Given the description of an element on the screen output the (x, y) to click on. 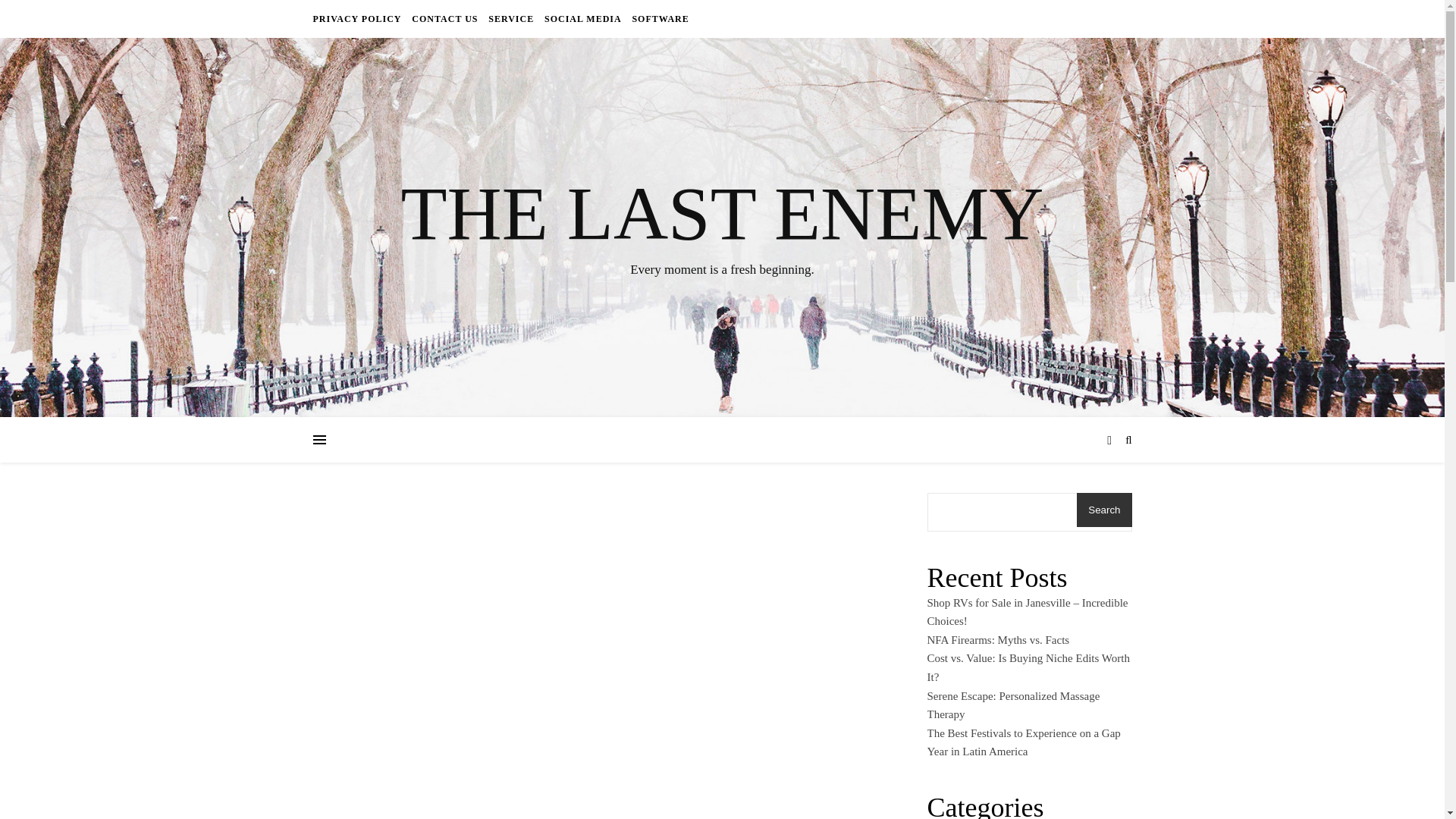
Cost vs. Value: Is Buying Niche Edits Worth It? (1027, 667)
CONTACT US (444, 18)
PRIVACY POLICY (358, 18)
SERVICE (510, 18)
SOCIAL MEDIA (583, 18)
Serene Escape: Personalized Massage Therapy (1012, 705)
NFA Firearms: Myths vs. Facts (997, 639)
Search (1104, 510)
SOFTWARE (657, 18)
